Given the description of an element on the screen output the (x, y) to click on. 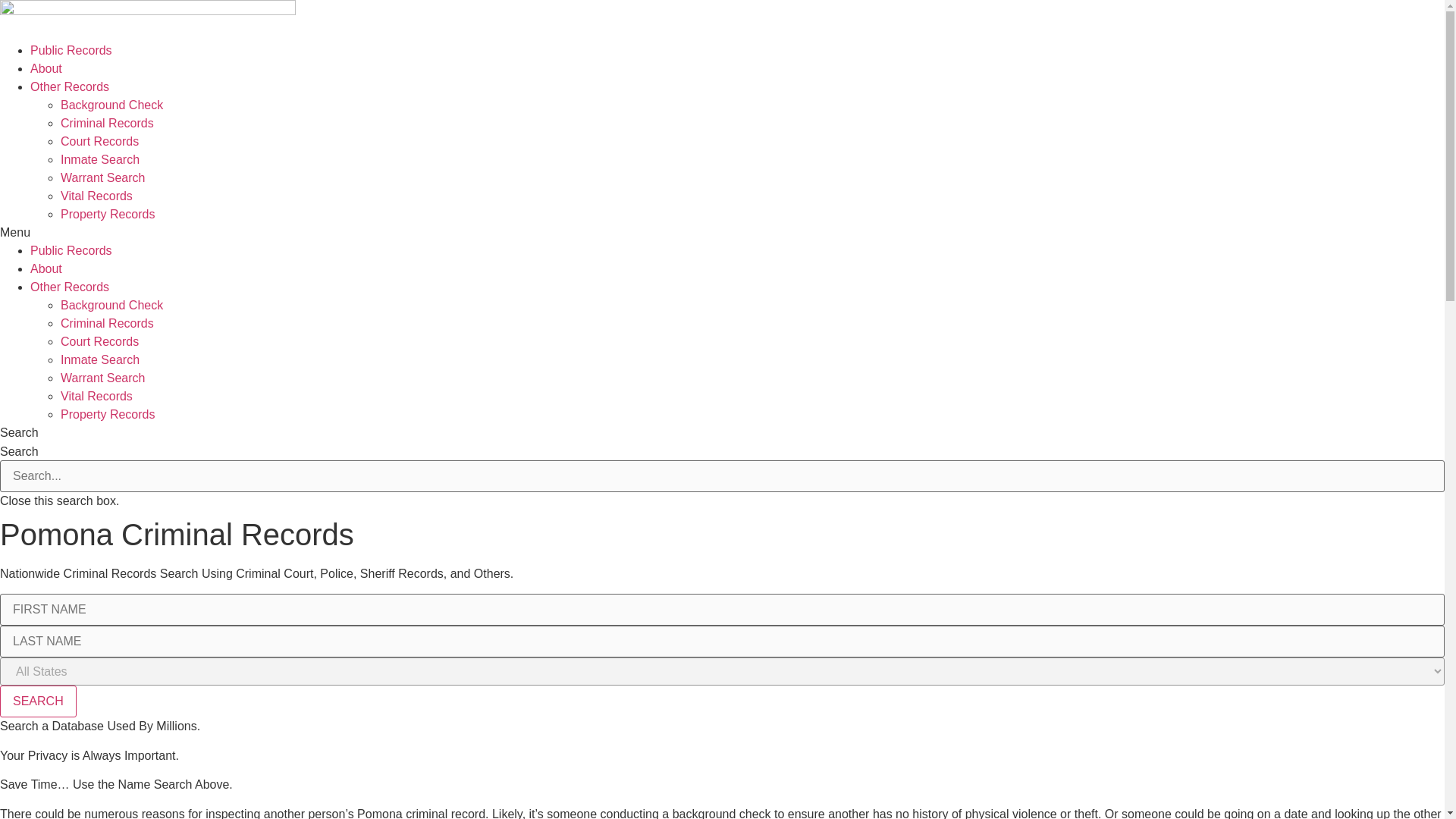
Criminal Records (107, 323)
About (46, 68)
Court Records (99, 341)
Other Records (69, 86)
Vital Records (96, 395)
Public Records (71, 250)
Court Records (99, 141)
Background Check (112, 104)
Inmate Search (100, 359)
Inmate Search (100, 159)
